Given the description of an element on the screen output the (x, y) to click on. 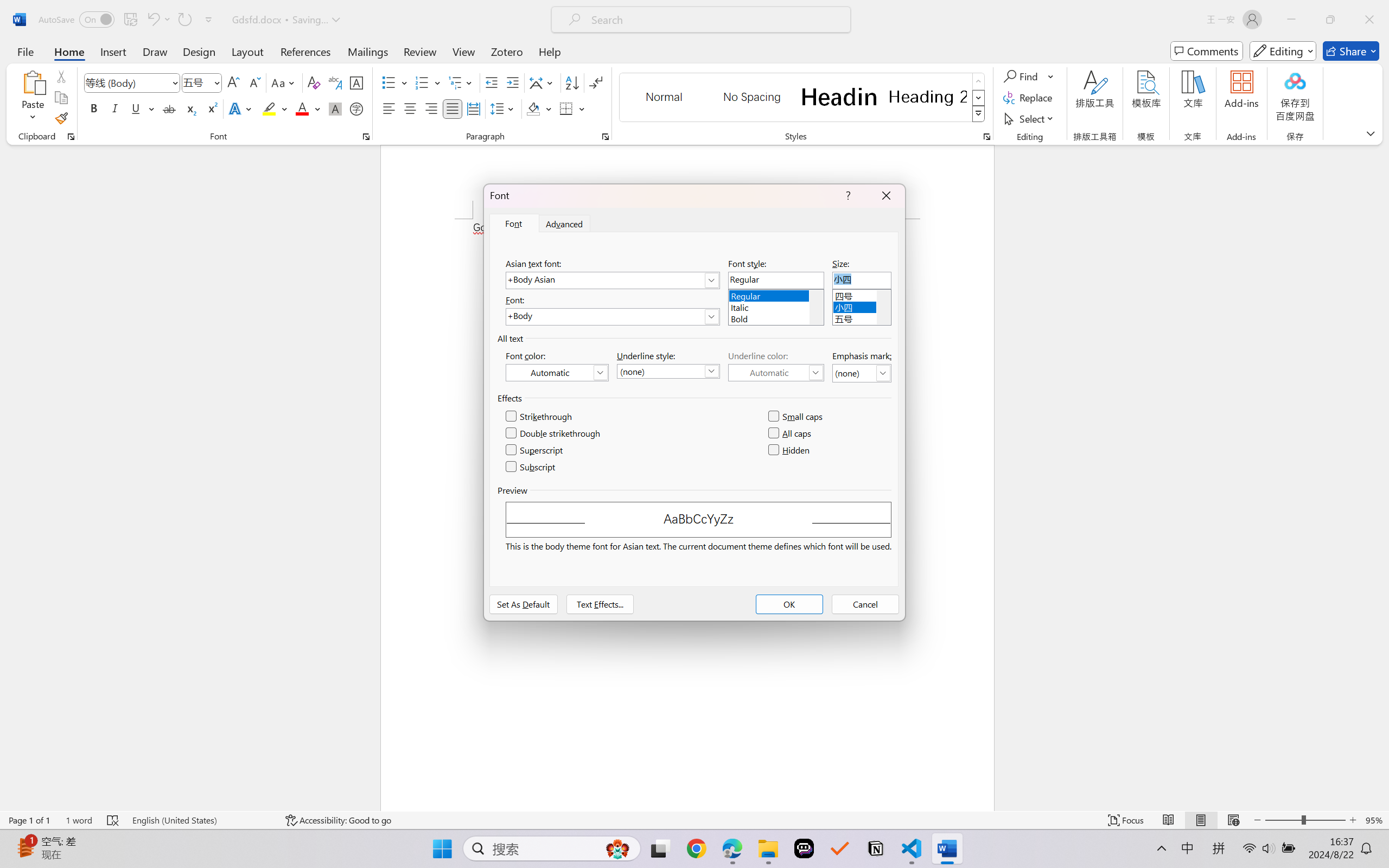
Strikethrough (169, 108)
Regular (775, 294)
RichEdit Control (861, 280)
Line and Paragraph Spacing (503, 108)
Zoom 95% (1374, 819)
Cancel (865, 603)
